Given the description of an element on the screen output the (x, y) to click on. 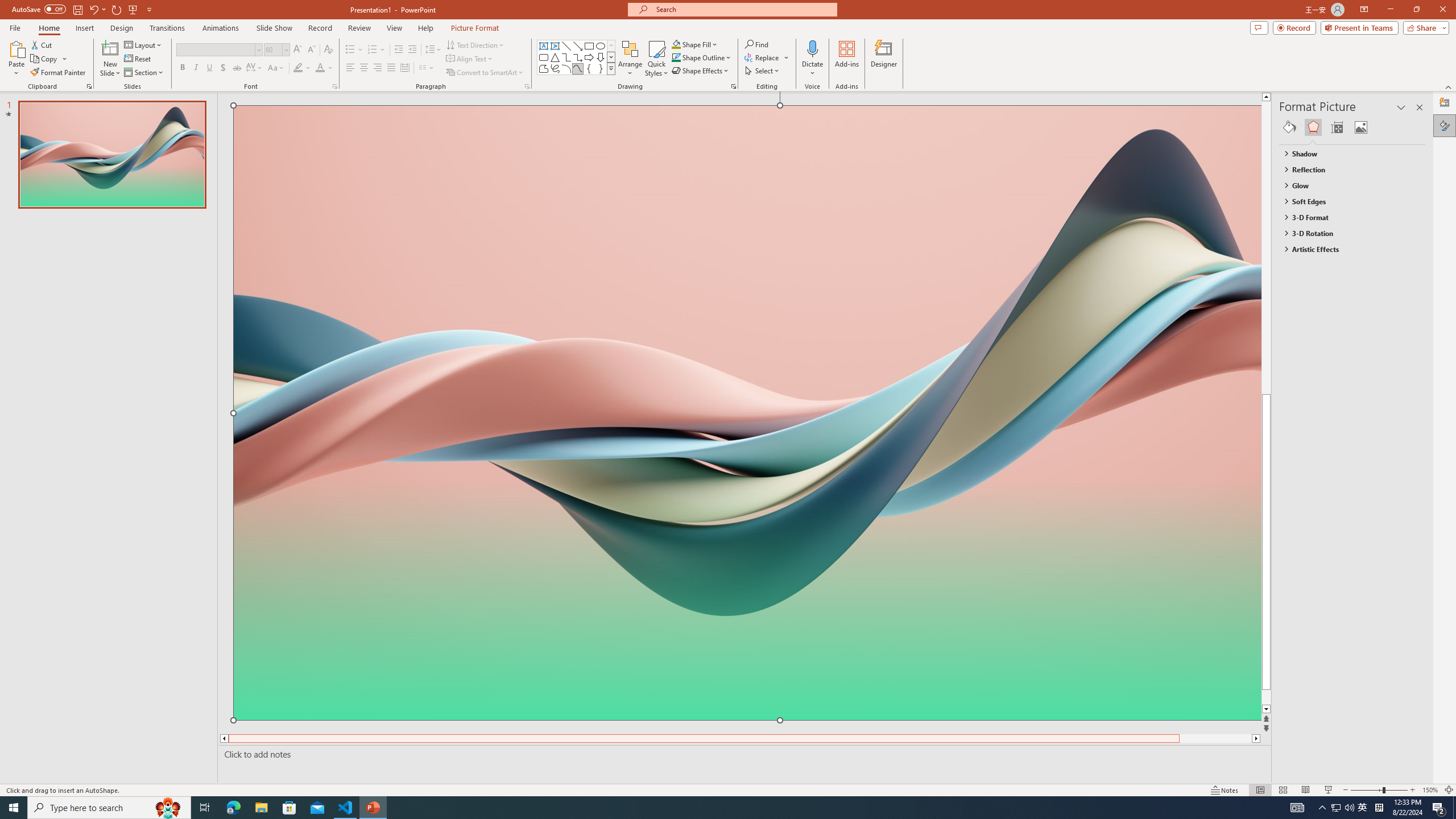
Picture Format (475, 28)
Decorative Locked (747, 579)
Wavy 3D art (747, 412)
